Given the description of an element on the screen output the (x, y) to click on. 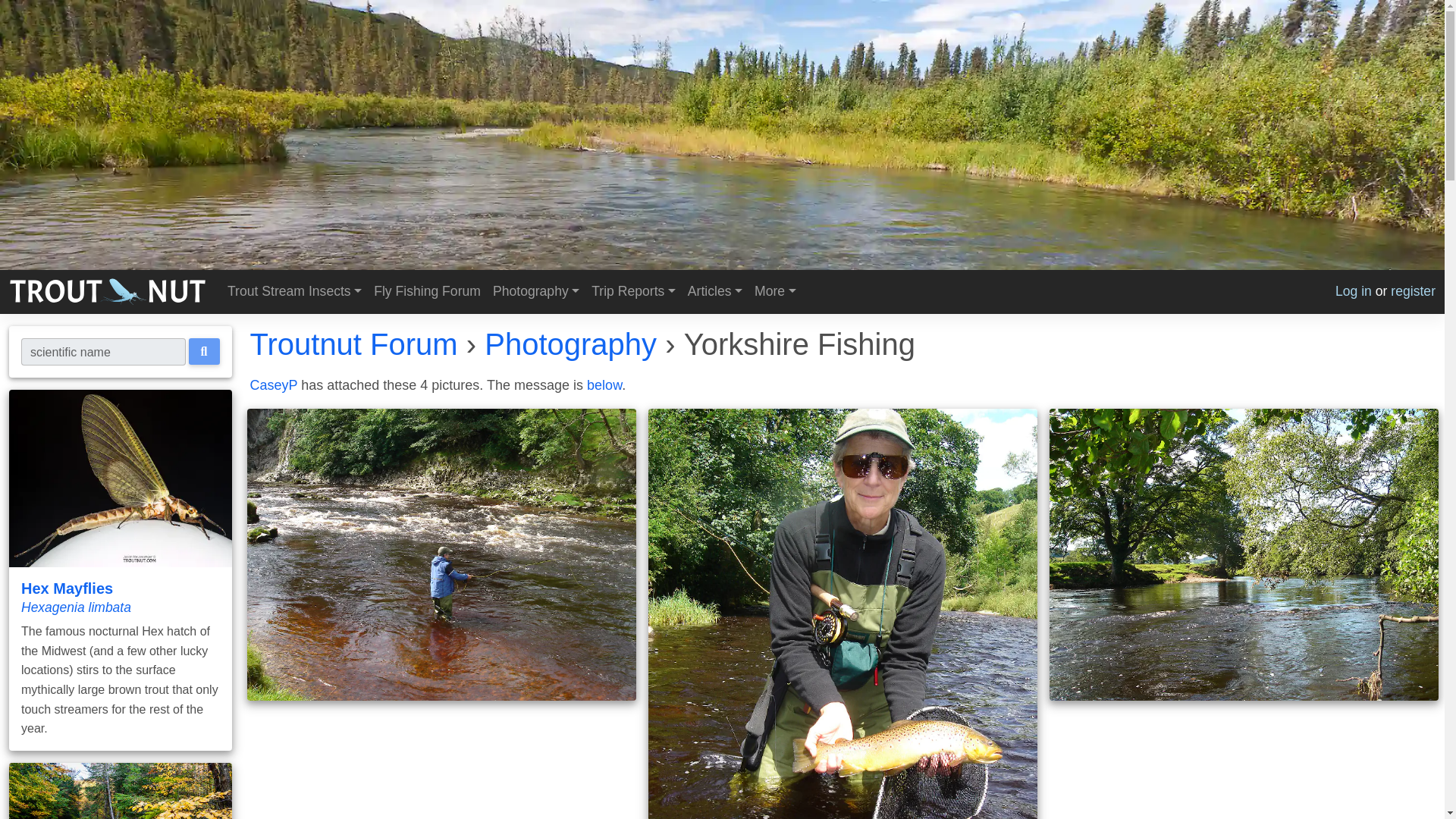
Troutnut.com Home (107, 291)
Sixmile Creek in New York (119, 790)
Near Addingham next day;  looks do-able. (1243, 554)
Trout Stream Insects (294, 291)
